Given the description of an element on the screen output the (x, y) to click on. 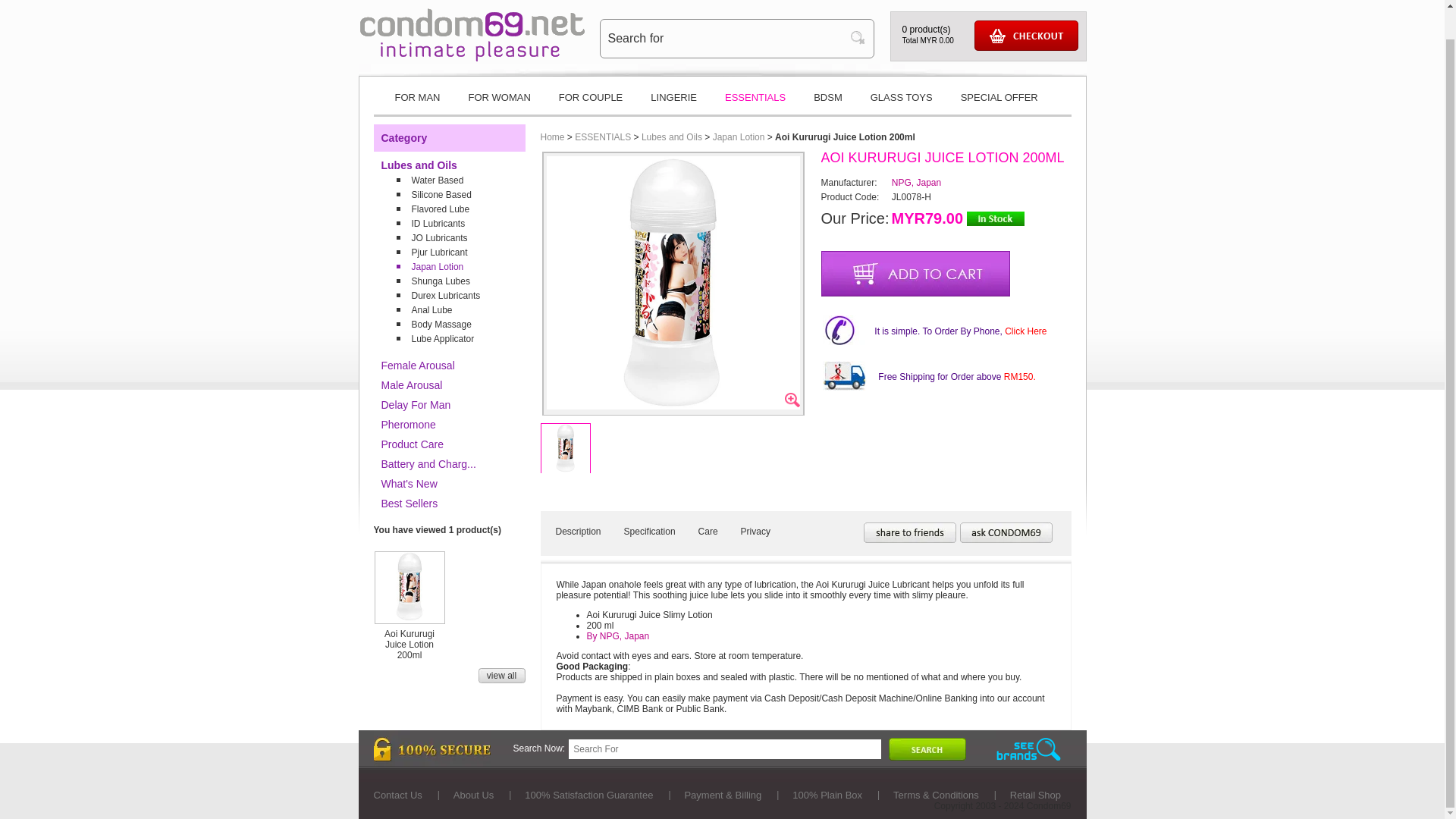
Search for (724, 38)
FOR COUPLE (590, 102)
Condom69 (471, 34)
Search for (724, 38)
FOR WOMAN (498, 102)
FOR MAN (416, 102)
Condom69 (471, 58)
Cart (1025, 35)
FOR MAN (416, 102)
